Given the description of an element on the screen output the (x, y) to click on. 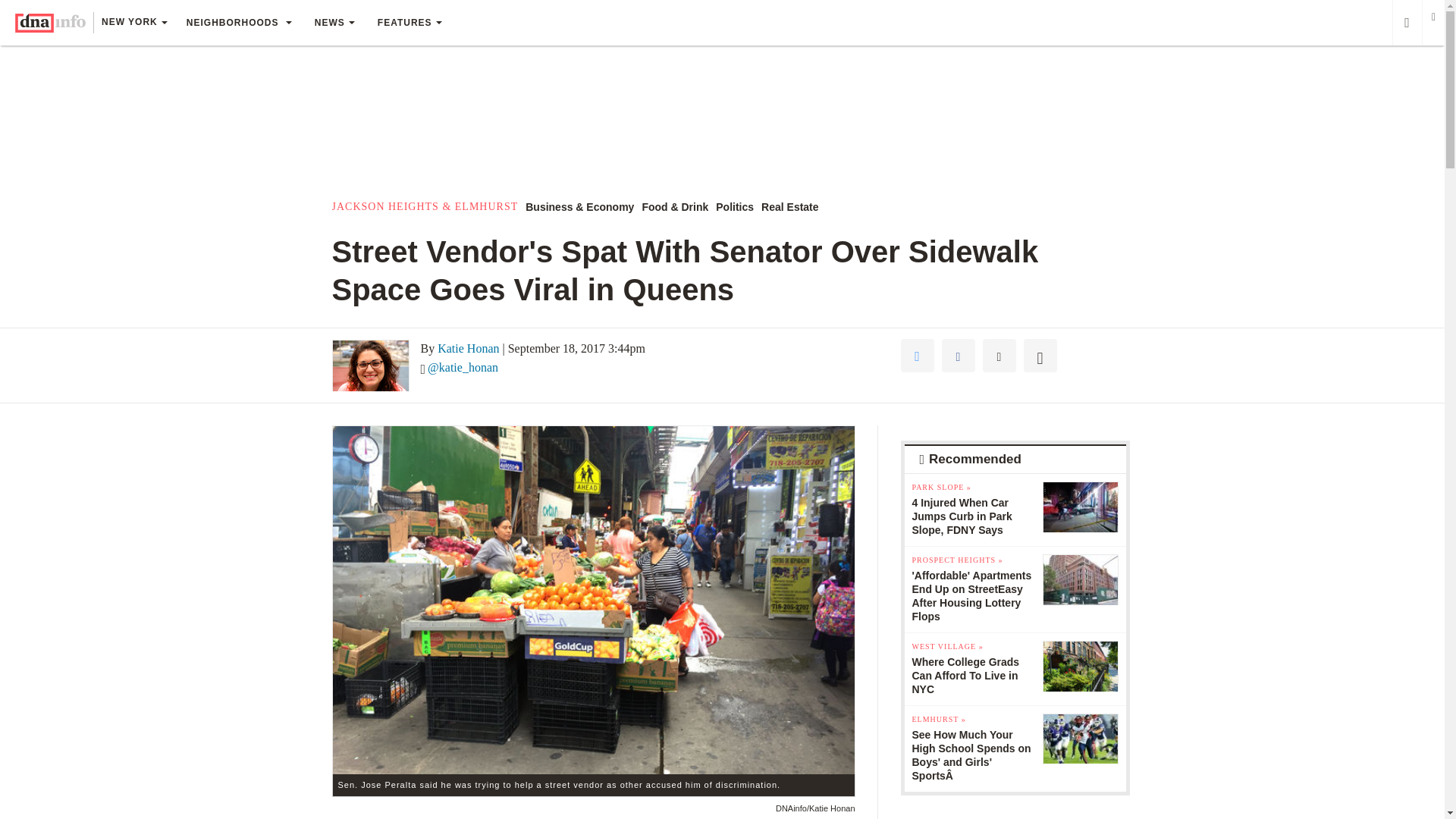
New York - Home (49, 22)
NEIGHBORHOODS (238, 22)
NEWS (334, 22)
NEW YORK (133, 23)
